Given the description of an element on the screen output the (x, y) to click on. 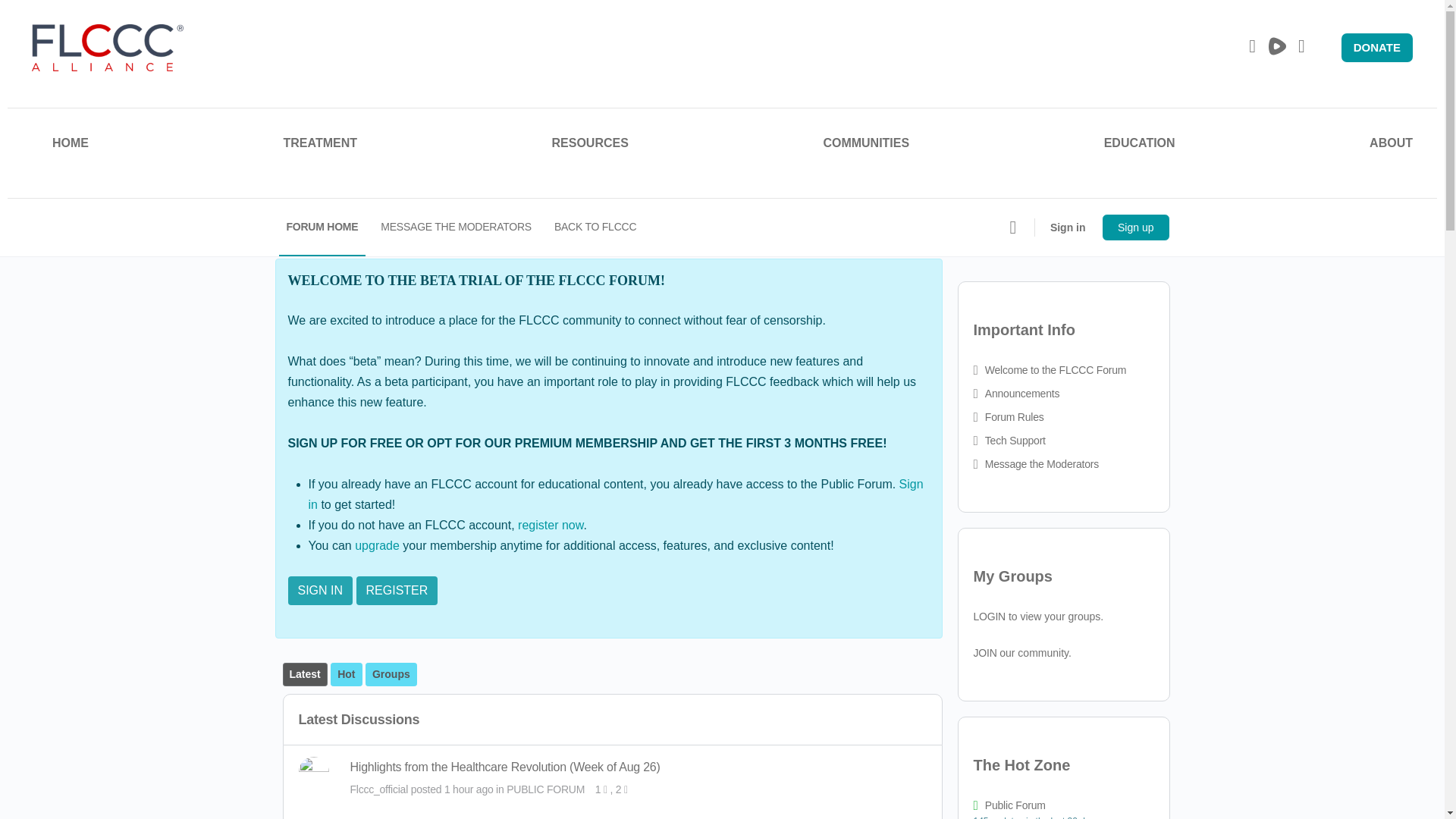
COMMUNITIES (865, 145)
ABOUT (1391, 145)
Sign up (1135, 226)
FORUM HOME (322, 227)
EDUCATION (1138, 145)
TREATMENT (319, 145)
RESOURCES (589, 145)
Sign in (1067, 226)
MESSAGE THE MODERATORS (455, 227)
DONATE (1376, 48)
